Given the description of an element on the screen output the (x, y) to click on. 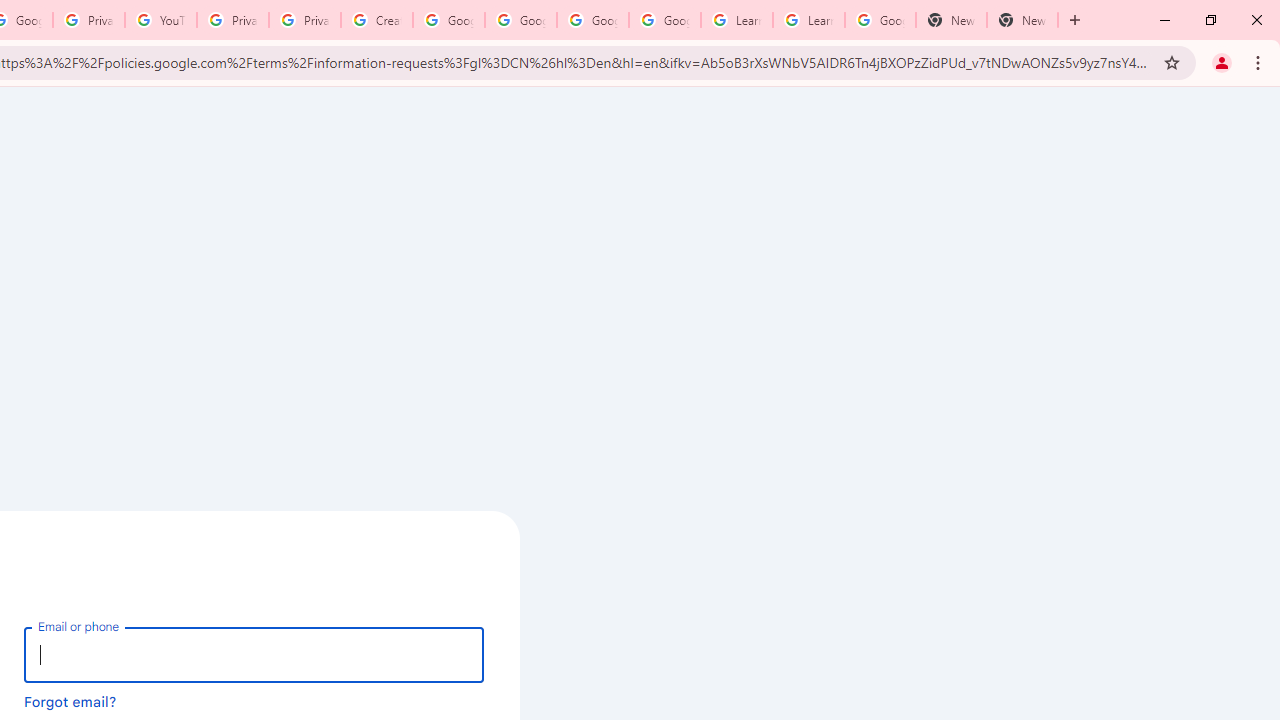
New Tab (1022, 20)
Google Account Help (449, 20)
Forgot email? (70, 701)
Google Account Help (664, 20)
Google Account (880, 20)
Create your Google Account (376, 20)
Google Account Help (520, 20)
Google Account Help (592, 20)
